Given the description of an element on the screen output the (x, y) to click on. 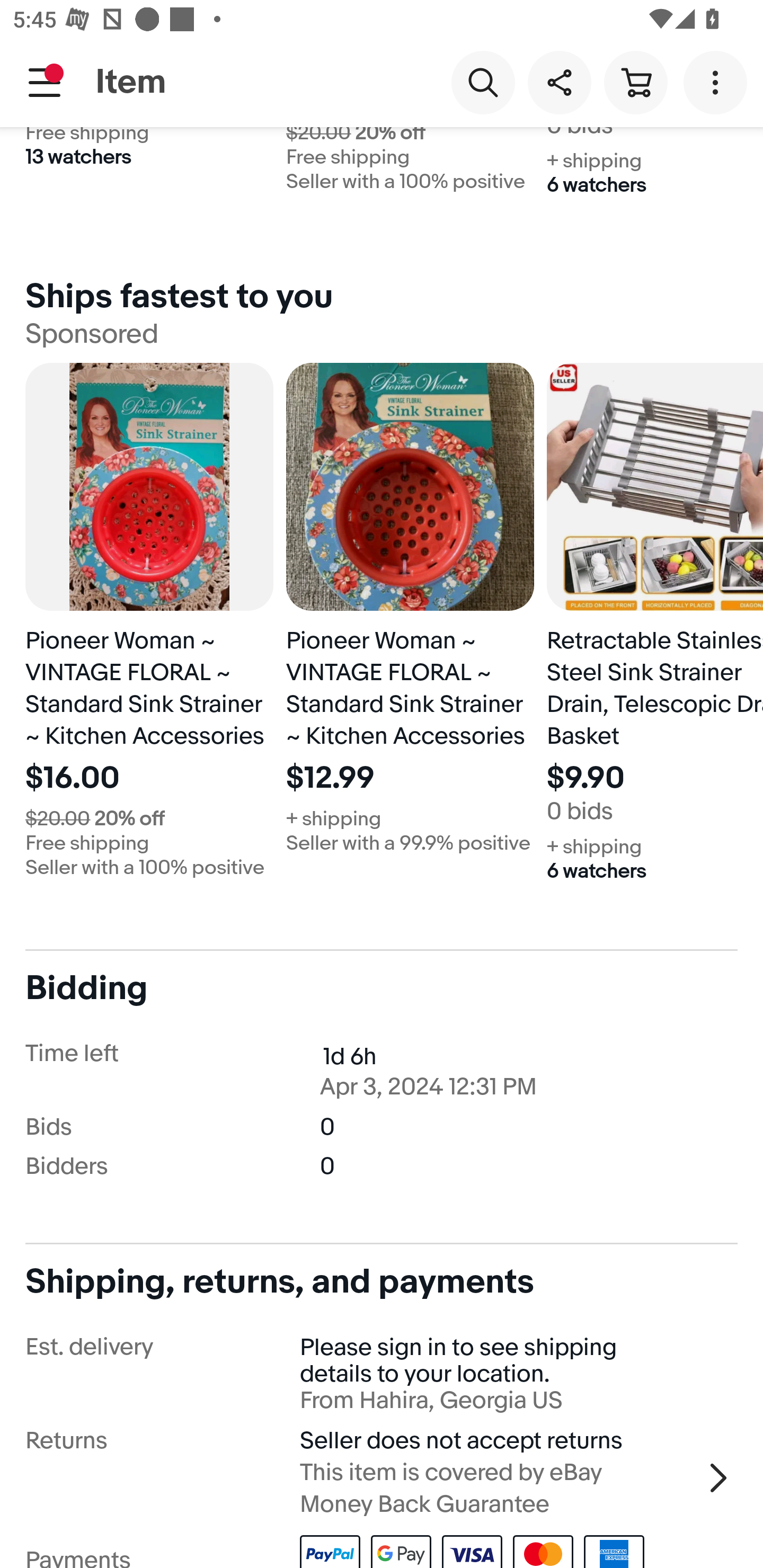
Main navigation, notification is pending, open (44, 82)
Search (482, 81)
Share this item (559, 81)
Cart button shopping cart (635, 81)
More options (718, 81)
